Given the description of an element on the screen output the (x, y) to click on. 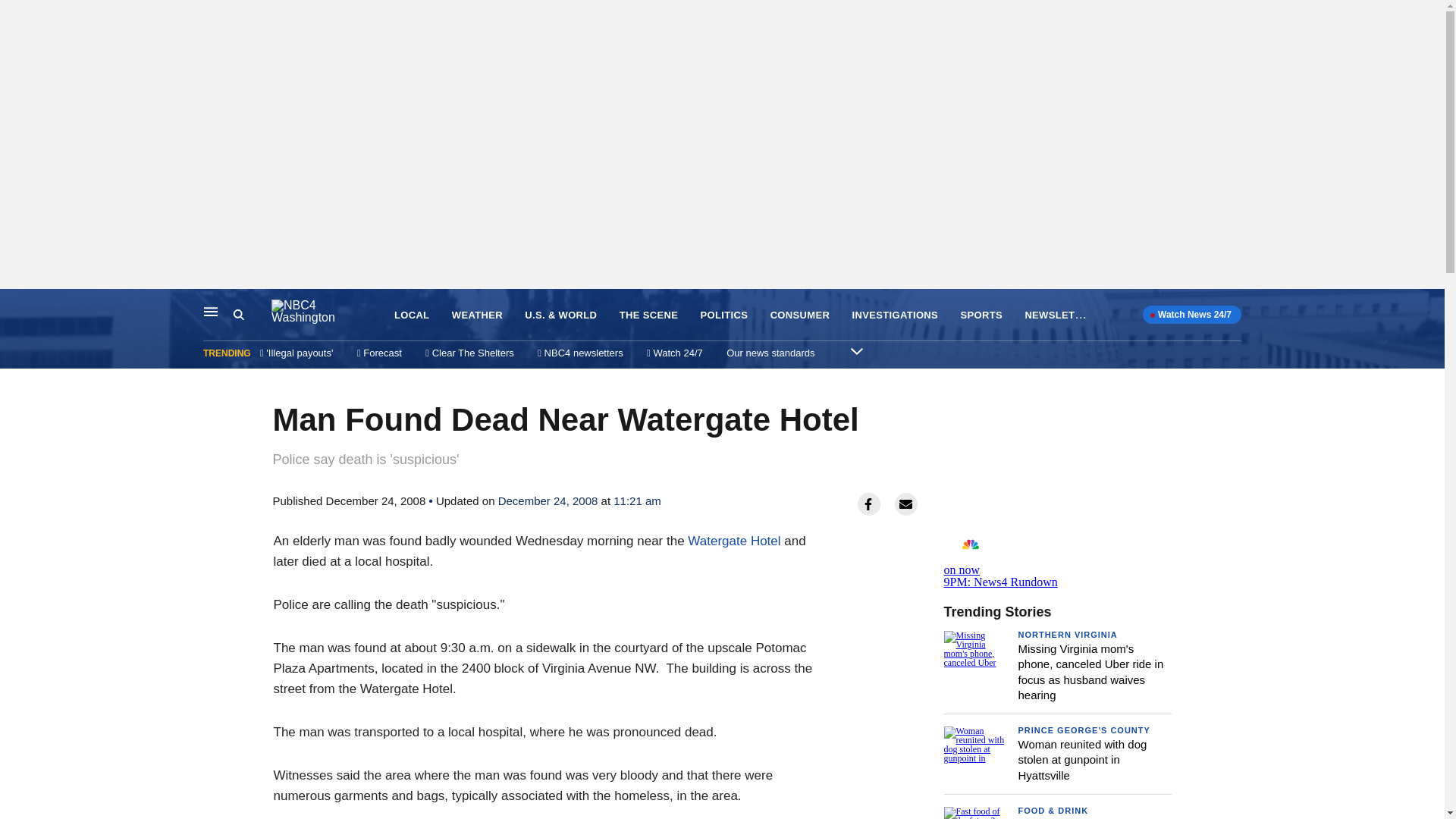
NORTHERN VIRGINIA (1066, 634)
Skip to content (16, 304)
NEWSLETTERS (1056, 559)
WEATHER (1063, 314)
POLITICS (476, 315)
Search (724, 315)
Woman reunited with dog stolen at gunpoint in Hyattsville (252, 314)
INVESTIGATIONS (1082, 759)
